Given the description of an element on the screen output the (x, y) to click on. 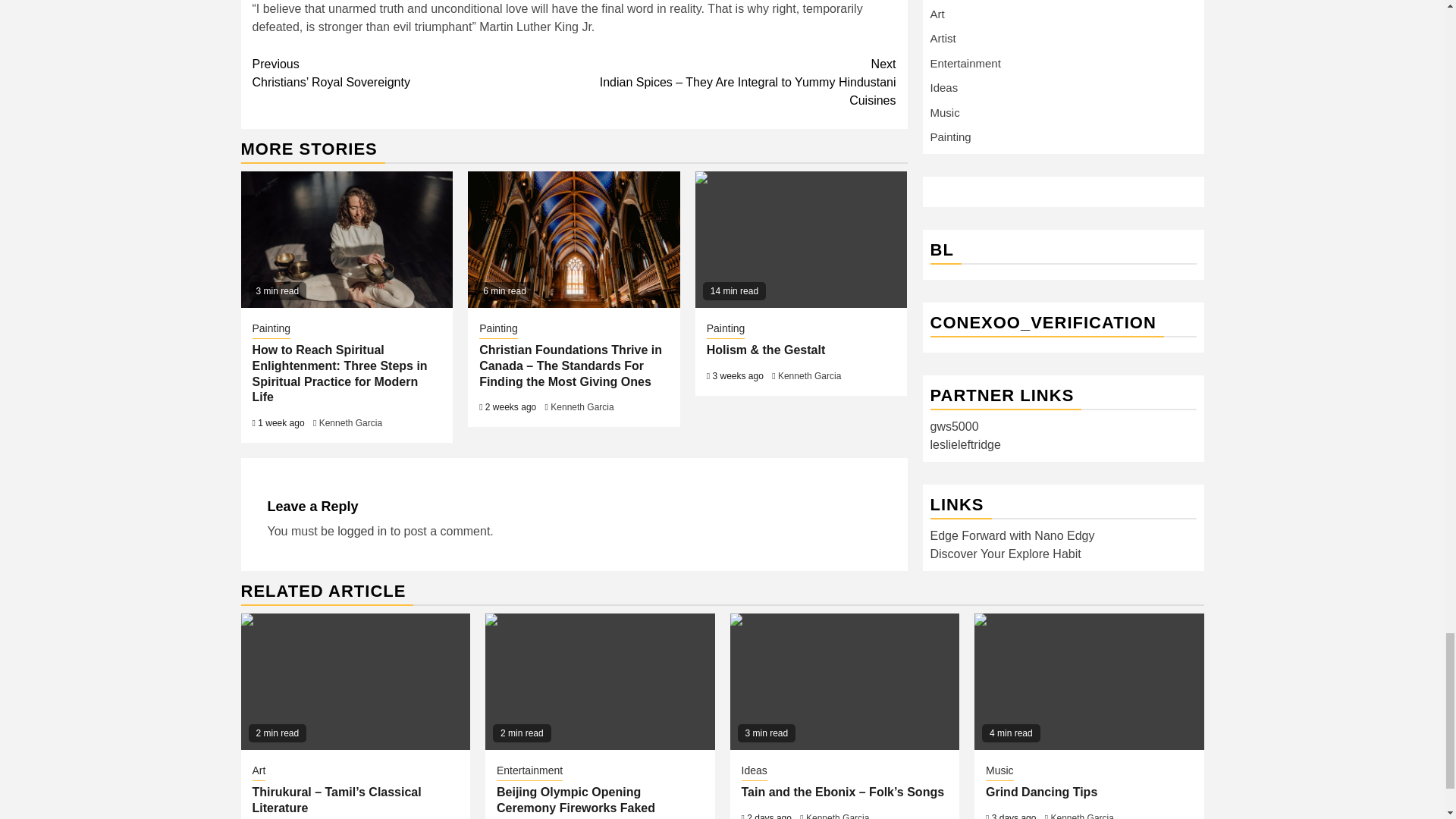
Kenneth Garcia (809, 376)
Kenneth Garcia (349, 422)
Beijing Olympic Opening Ceremony Fireworks Faked (599, 681)
Kenneth Garcia (581, 407)
logged in (362, 530)
Grind Dancing Tips (1089, 681)
Painting (725, 330)
Painting (498, 330)
Painting (270, 330)
